Given the description of an element on the screen output the (x, y) to click on. 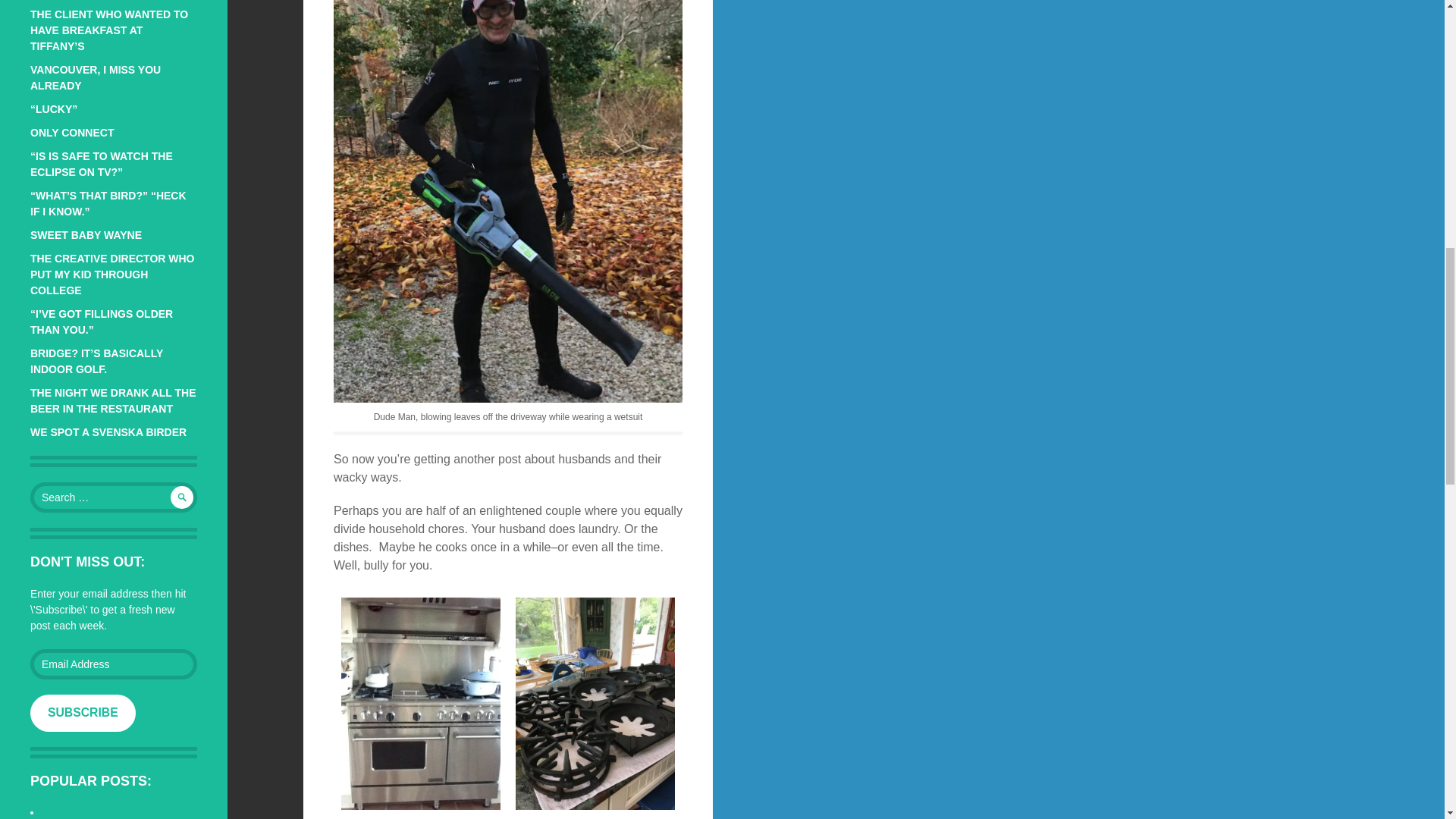
Search for: (113, 497)
VANCOUVER, I MISS YOU ALREADY (95, 77)
WE SPOT A SVENSKA BIRDER (108, 431)
THE NIGHT WE DRANK ALL THE BEER IN THE RESTAURANT (113, 400)
SWEET BABY WAYNE (85, 234)
THE CREATIVE DIRECTOR WHO PUT MY KID THROUGH COLLEGE (112, 274)
SUBSCRIBE (82, 713)
ONLY CONNECT (71, 132)
